Given the description of an element on the screen output the (x, y) to click on. 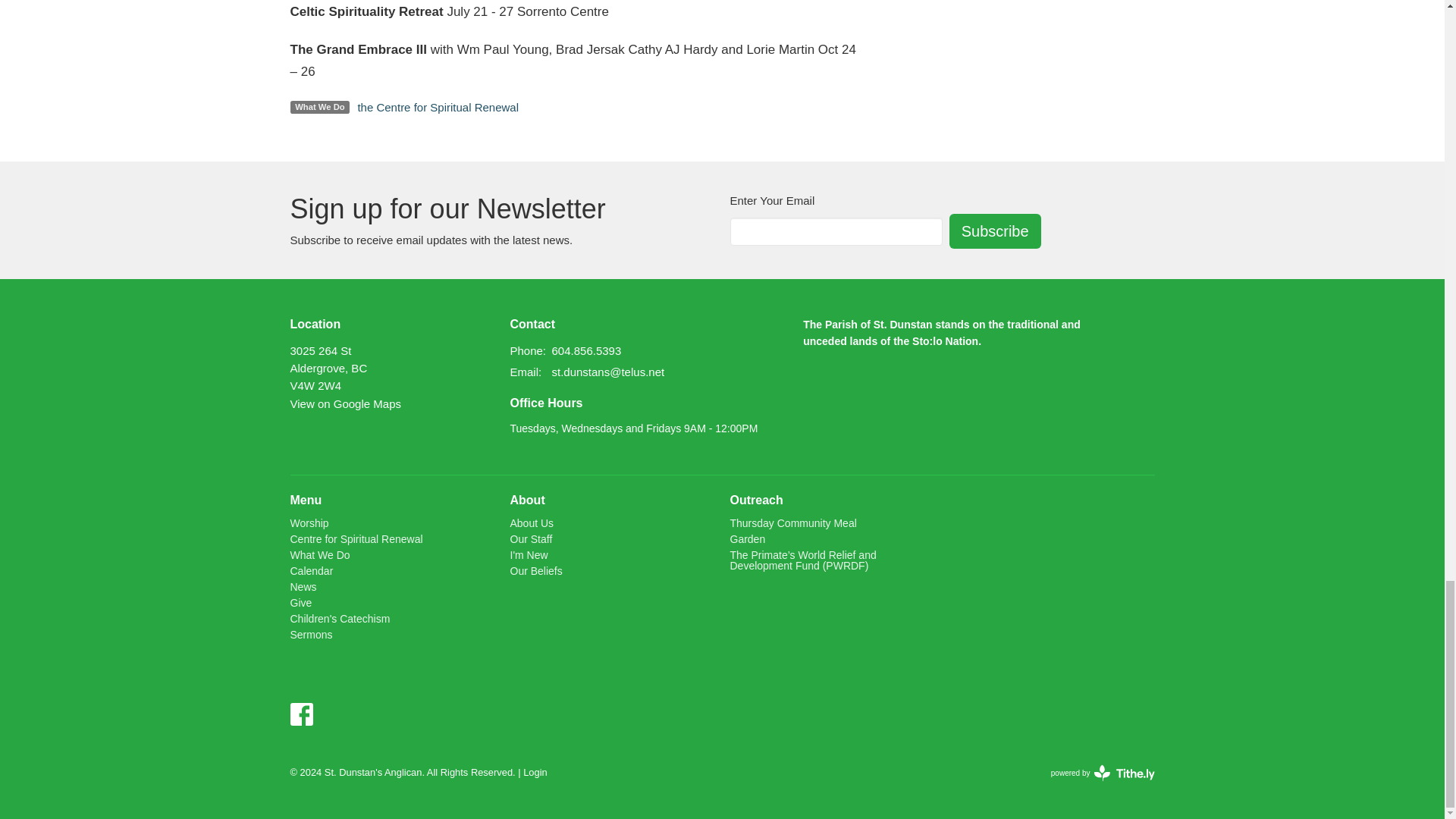
the Centre for Spiritual Renewal (437, 107)
604.856.5393 (586, 350)
translation missing: en.ui.email (523, 371)
Worship (309, 522)
I'm New (528, 554)
Outreach (756, 499)
View on Google Maps (344, 402)
Give (300, 603)
About Us (531, 522)
Subscribe (995, 231)
Children's Catechism (339, 618)
News (302, 586)
What We Do (319, 554)
Our Staff (530, 539)
Sermons (310, 634)
